Given the description of an element on the screen output the (x, y) to click on. 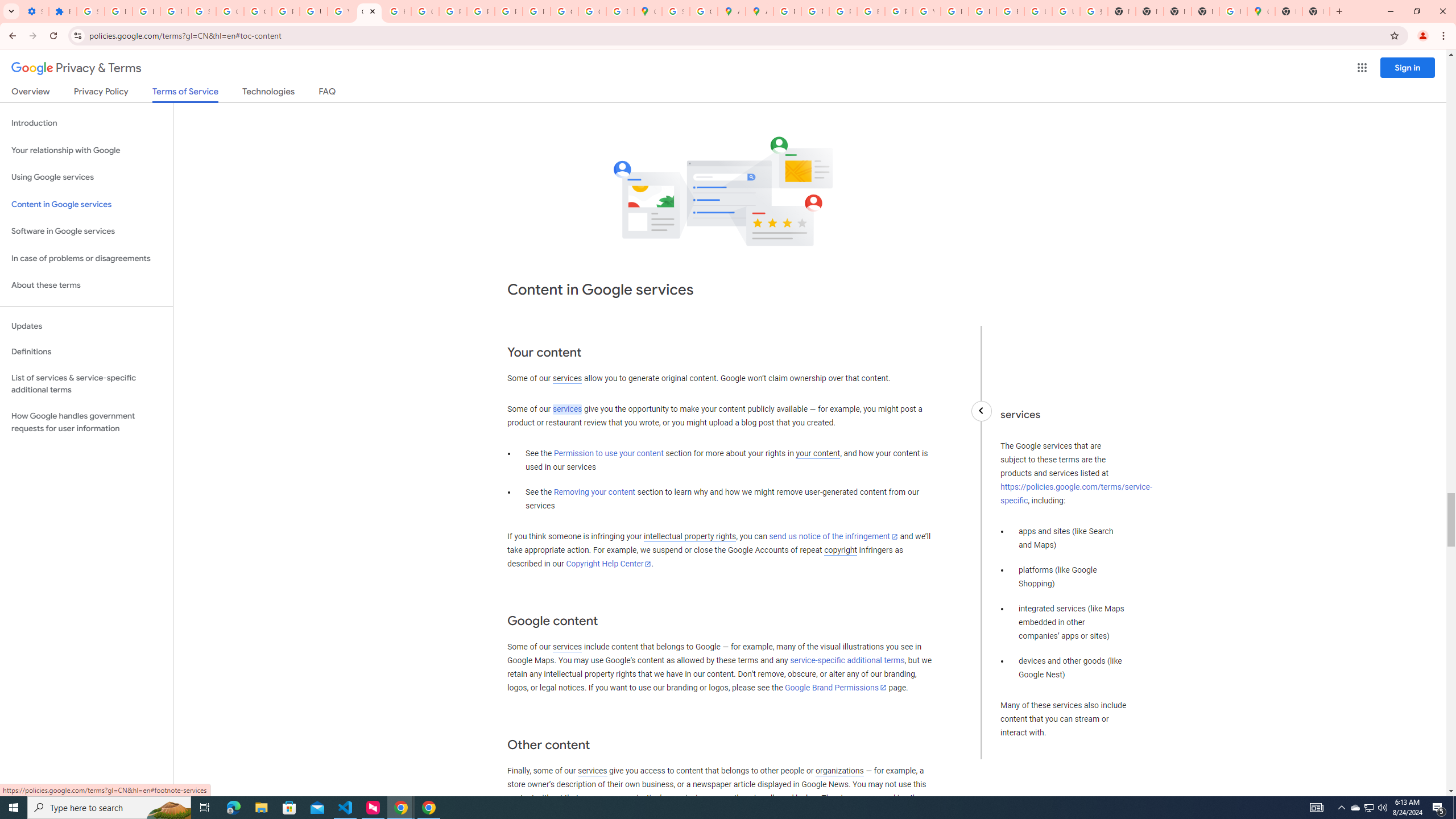
services (591, 770)
YouTube (341, 11)
Software in Google services (86, 230)
Copyright Help Center (609, 564)
New Tab (1316, 11)
Google Brand Permissions (835, 687)
send us notice of the infringement (833, 536)
